Given the description of an element on the screen output the (x, y) to click on. 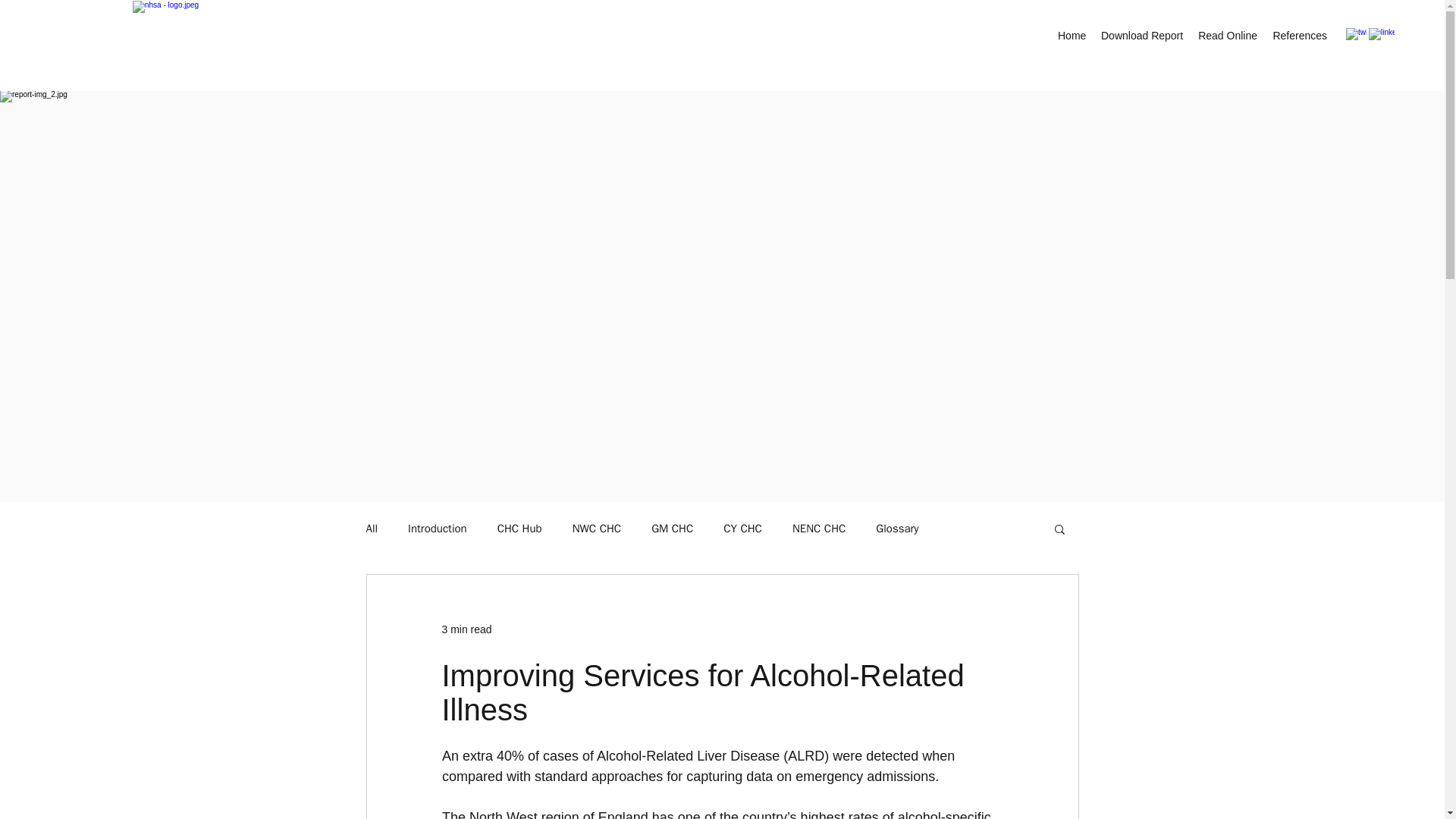
Glossary (897, 528)
Read Online (1228, 35)
Home (1071, 35)
GM CHC (671, 528)
CHC Hub (519, 528)
Download Report (1142, 35)
3 min read (466, 629)
References (1300, 35)
Introduction (437, 528)
NENC CHC (818, 528)
CY CHC (742, 528)
NWC CHC (596, 528)
